Given the description of an element on the screen output the (x, y) to click on. 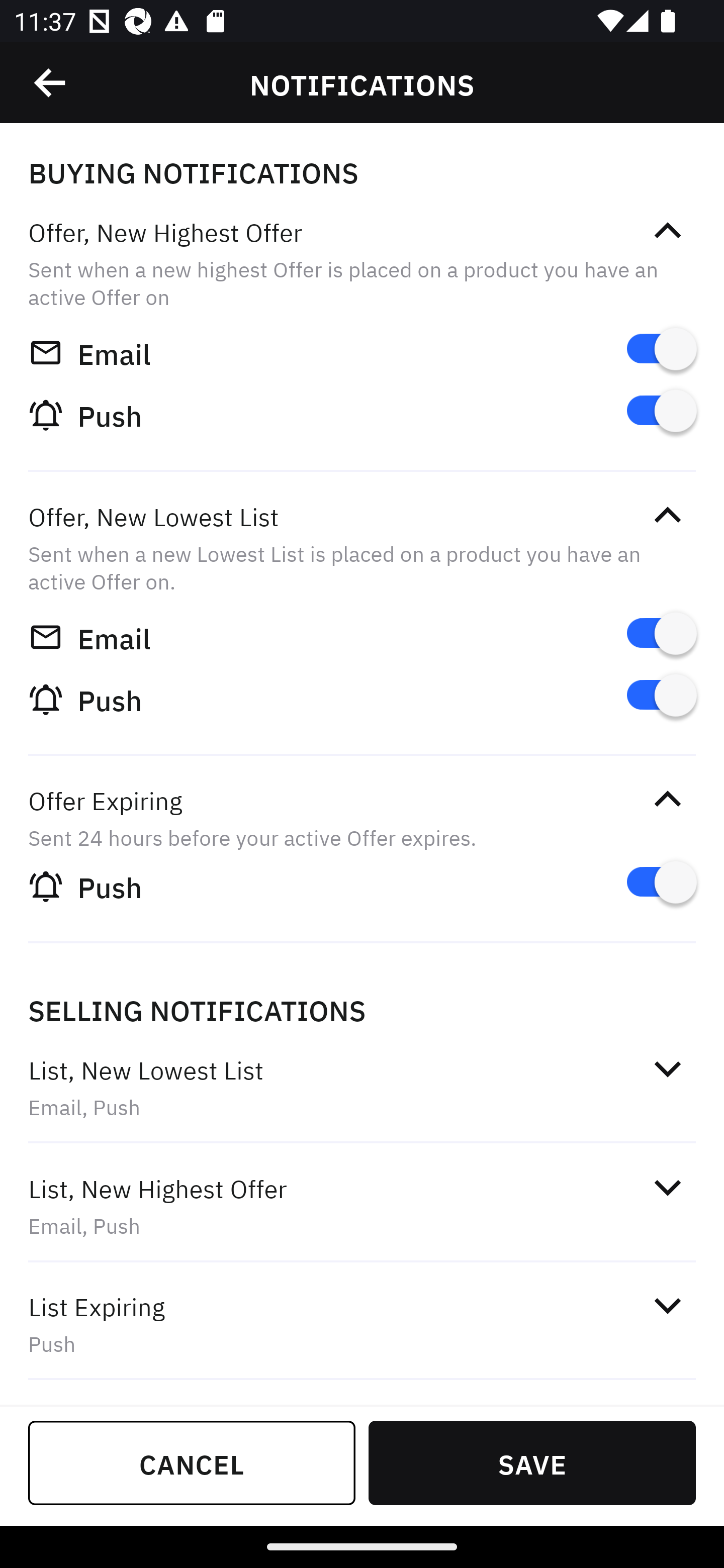
 (50, 83)
 (667, 231)
 (667, 514)
 (667, 799)
List, New Lowest List  Email, Push (361, 1087)
 (667, 1068)
List, New Highest Offer  Email, Push (361, 1206)
 (667, 1187)
List Expiring  Push (361, 1323)
 (667, 1305)
CANCEL (191, 1462)
SAVE (531, 1462)
